Given the description of an element on the screen output the (x, y) to click on. 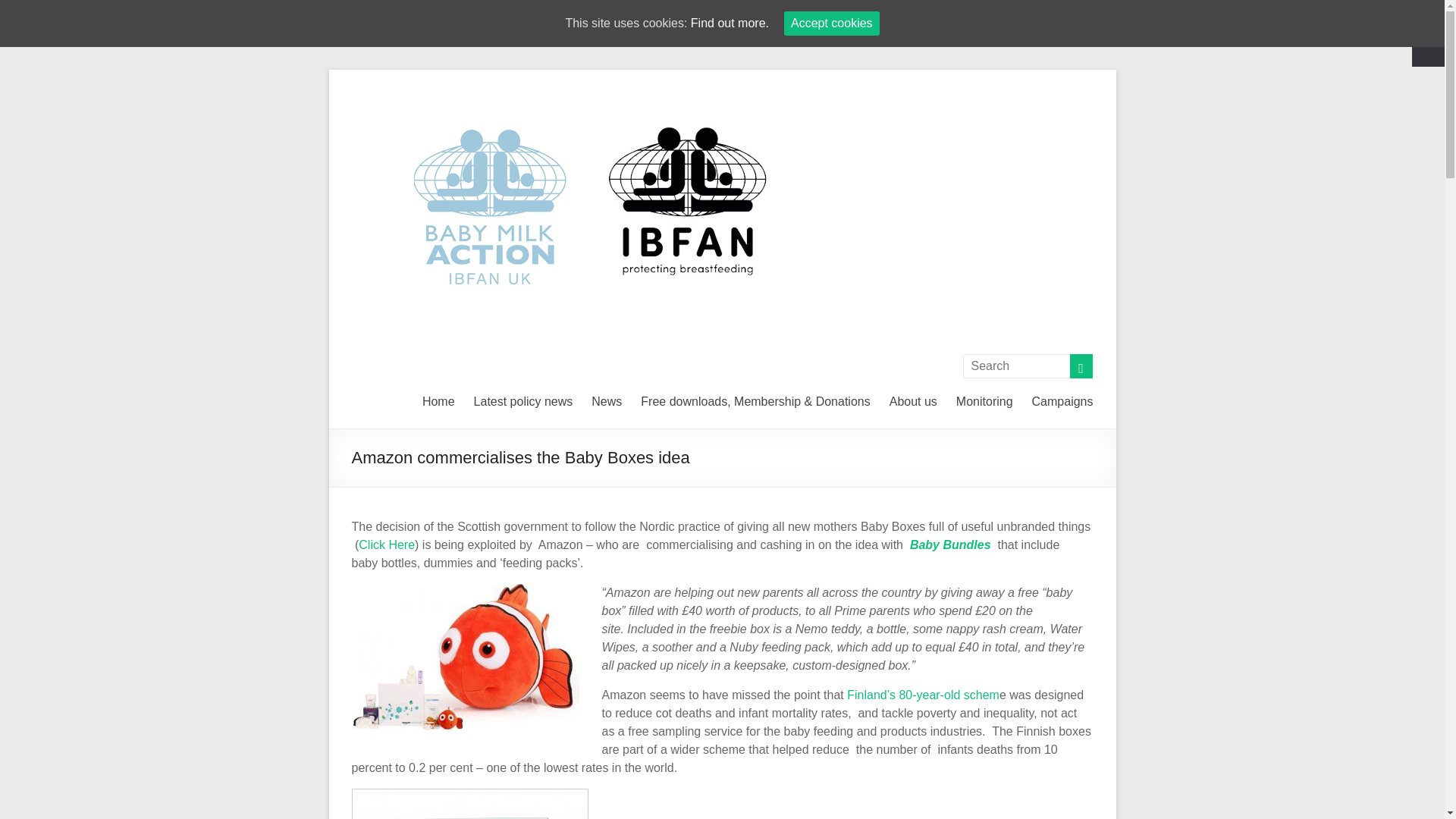
Search (38, 11)
Baby Milk Action (991, 101)
Latest policy news (523, 399)
Home (438, 399)
Monitoring (984, 399)
About us (913, 399)
Campaigns (1062, 399)
Baby Milk Action (614, 88)
Baby Milk Action (991, 101)
